Given the description of an element on the screen output the (x, y) to click on. 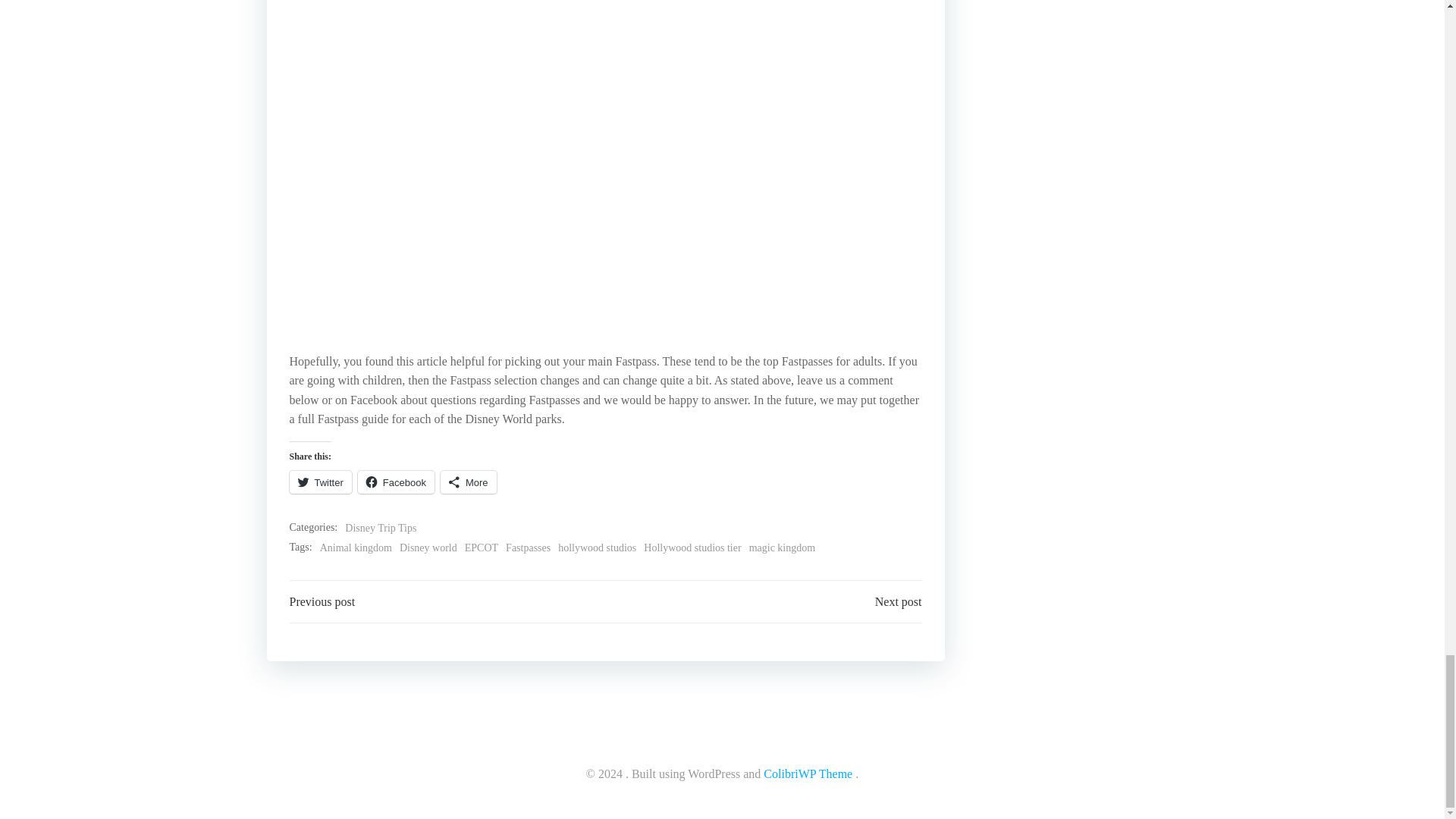
Click to share on Facebook (395, 481)
Tag: EPCOT (480, 547)
Tag: Fastpasses (527, 547)
Tag: Animal kingdom (355, 547)
Tag: hollywood studios (596, 547)
Click to share on Twitter (320, 481)
Tag: magic kingdom (782, 547)
Tag: Disney world (427, 547)
Tag: Hollywood studios tier (692, 547)
